Given the description of an element on the screen output the (x, y) to click on. 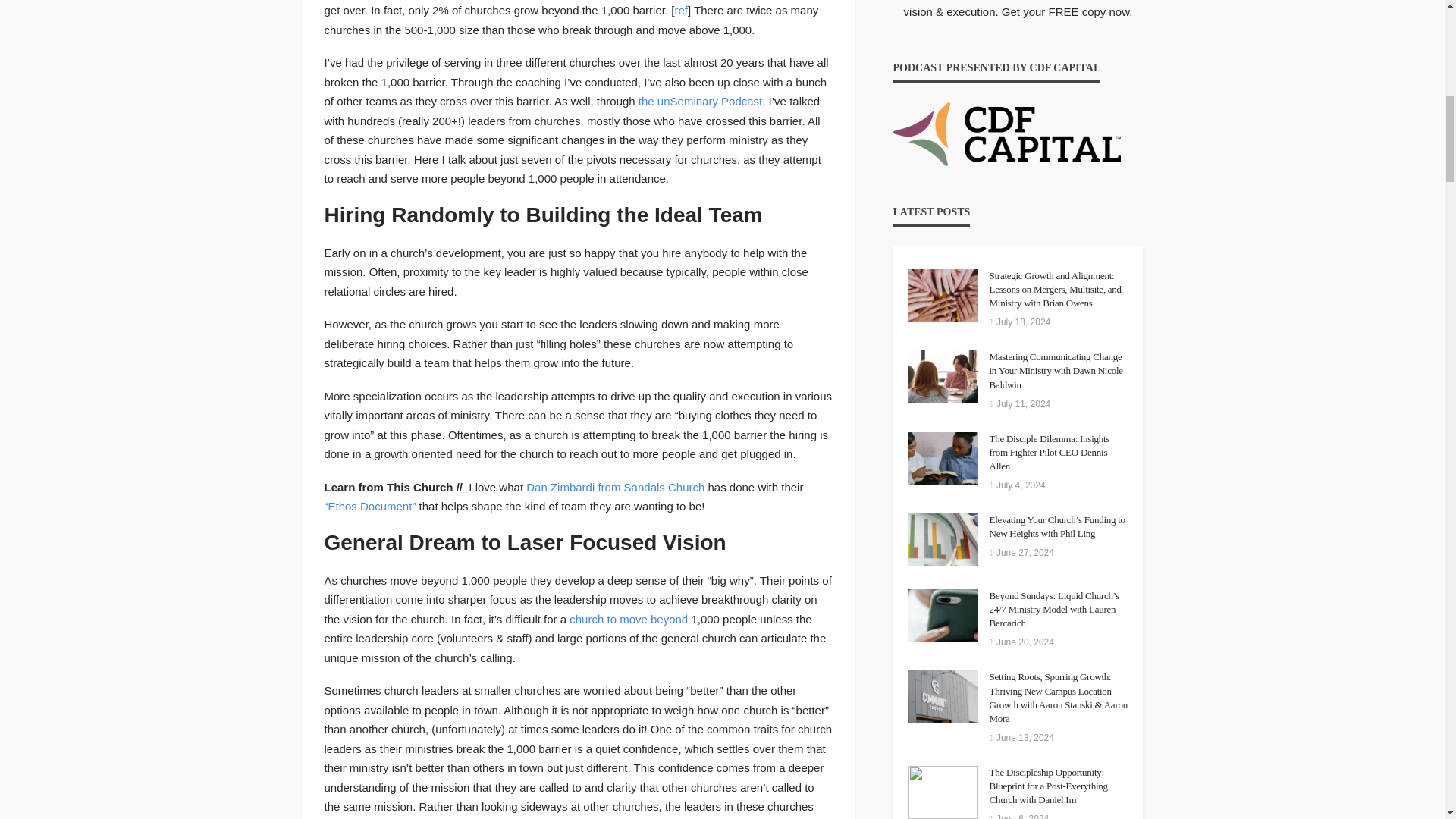
the unSeminary Podcast (698, 101)
church to move beyond (628, 618)
Dan Zimbardi from Sandals Church (614, 486)
ref (680, 10)
